Given the description of an element on the screen output the (x, y) to click on. 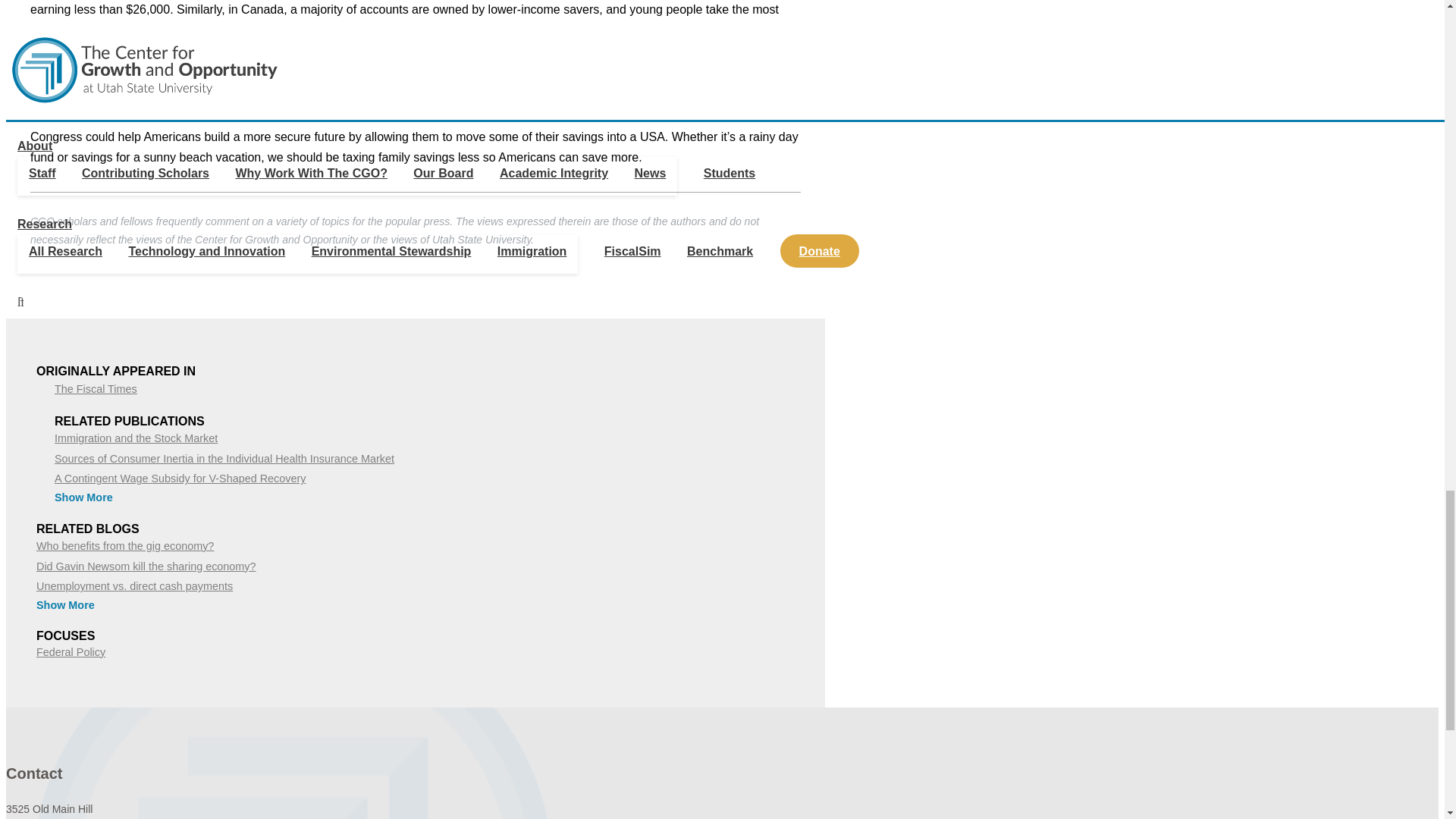
Show More (84, 497)
Show More (65, 604)
Immigration and the Stock Market (135, 438)
Who benefits from the gig economy? (125, 545)
Unemployment vs. direct cash payments (134, 585)
The Fiscal Times (95, 388)
Federal Policy (70, 652)
Did Gavin Newsom kill the sharing economy? (146, 566)
A Contingent Wage Subsidy for V-Shaped Recovery (180, 478)
saved one-third (464, 62)
